Given the description of an element on the screen output the (x, y) to click on. 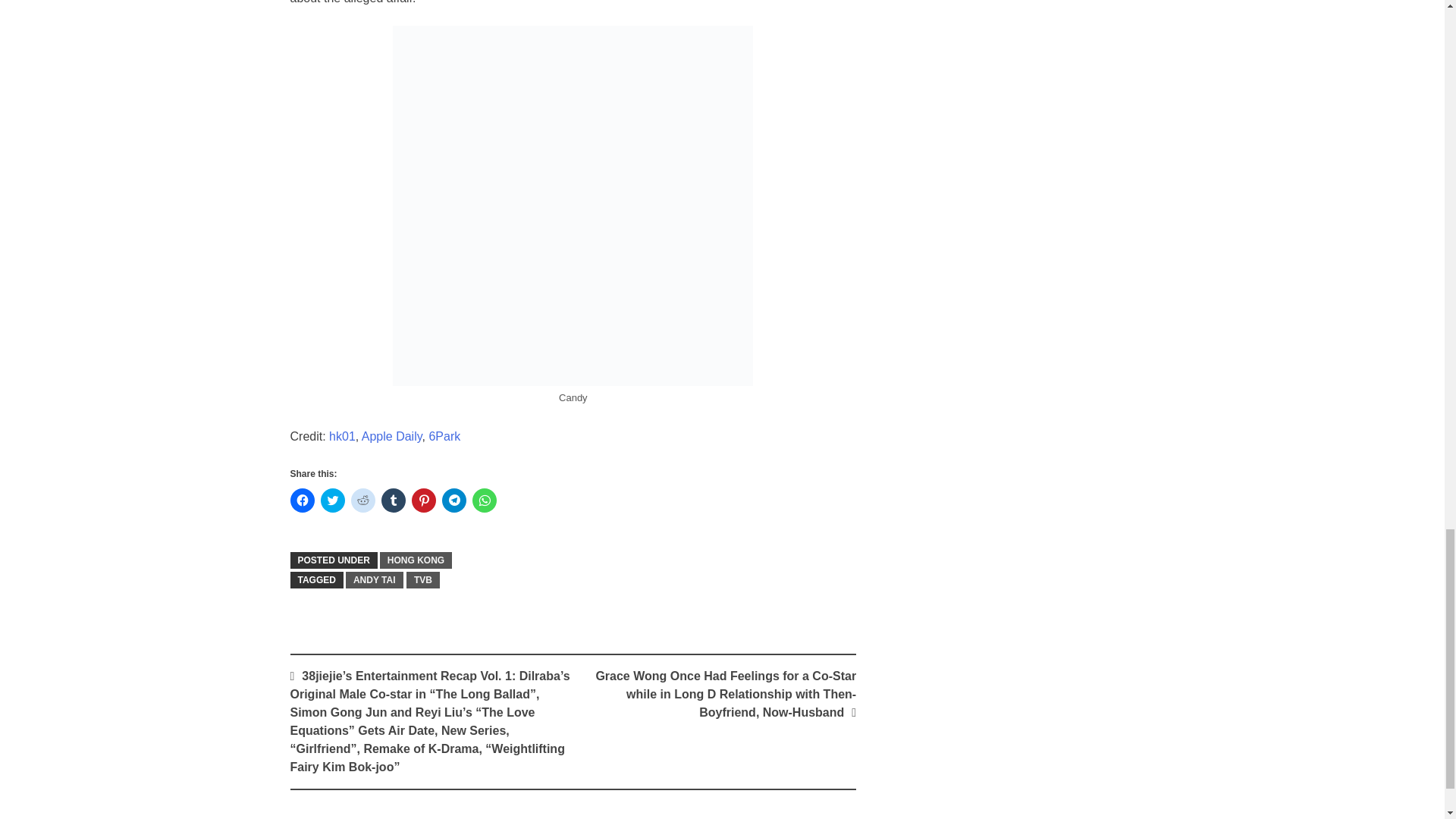
Click to share on Tumblr (392, 500)
Click to share on Twitter (331, 500)
Click to share on Telegram (453, 500)
Click to share on Pinterest (422, 500)
Click to share on Facebook (301, 500)
hk01 (342, 436)
Click to share on Reddit (362, 500)
Apple Daily (391, 436)
6Park (444, 436)
Click to share on WhatsApp (483, 500)
